Given the description of an element on the screen output the (x, y) to click on. 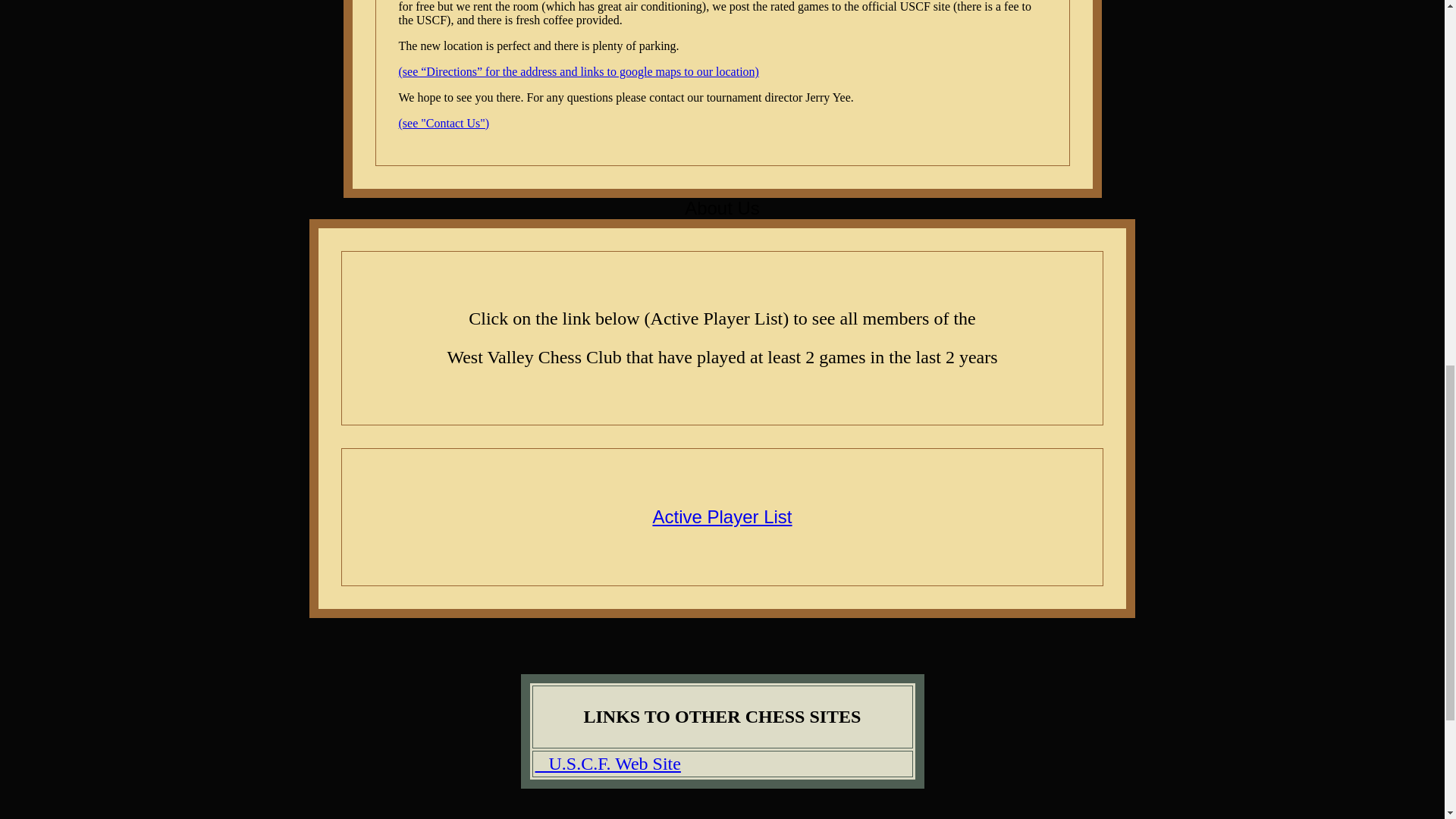
Active Player List (722, 516)
   U.S.C.F. Web Site (608, 763)
